Given the description of an element on the screen output the (x, y) to click on. 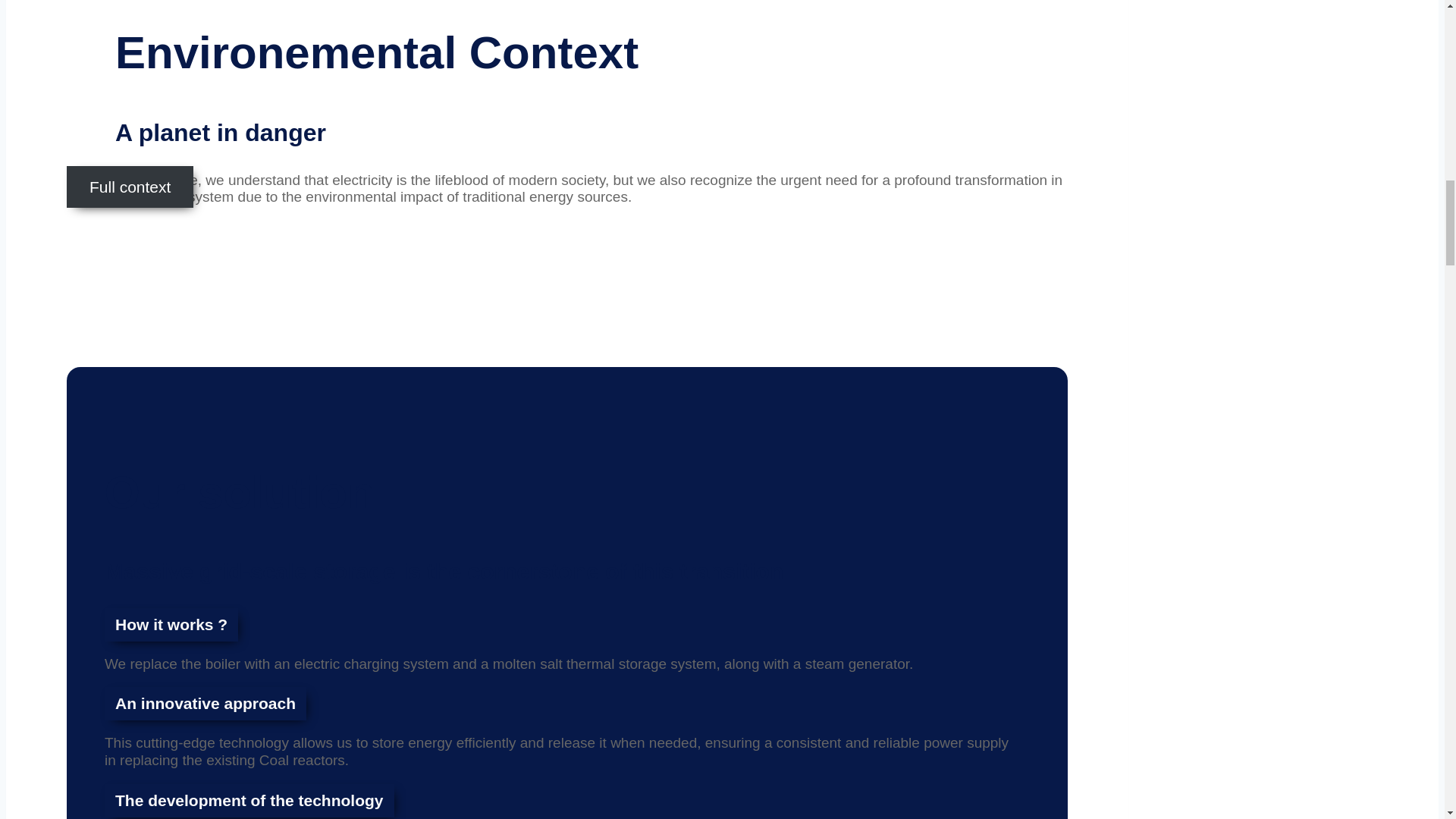
The development of the technology (249, 800)
An innovative approach (204, 703)
How it works ? (171, 624)
Full context (129, 187)
